Given the description of an element on the screen output the (x, y) to click on. 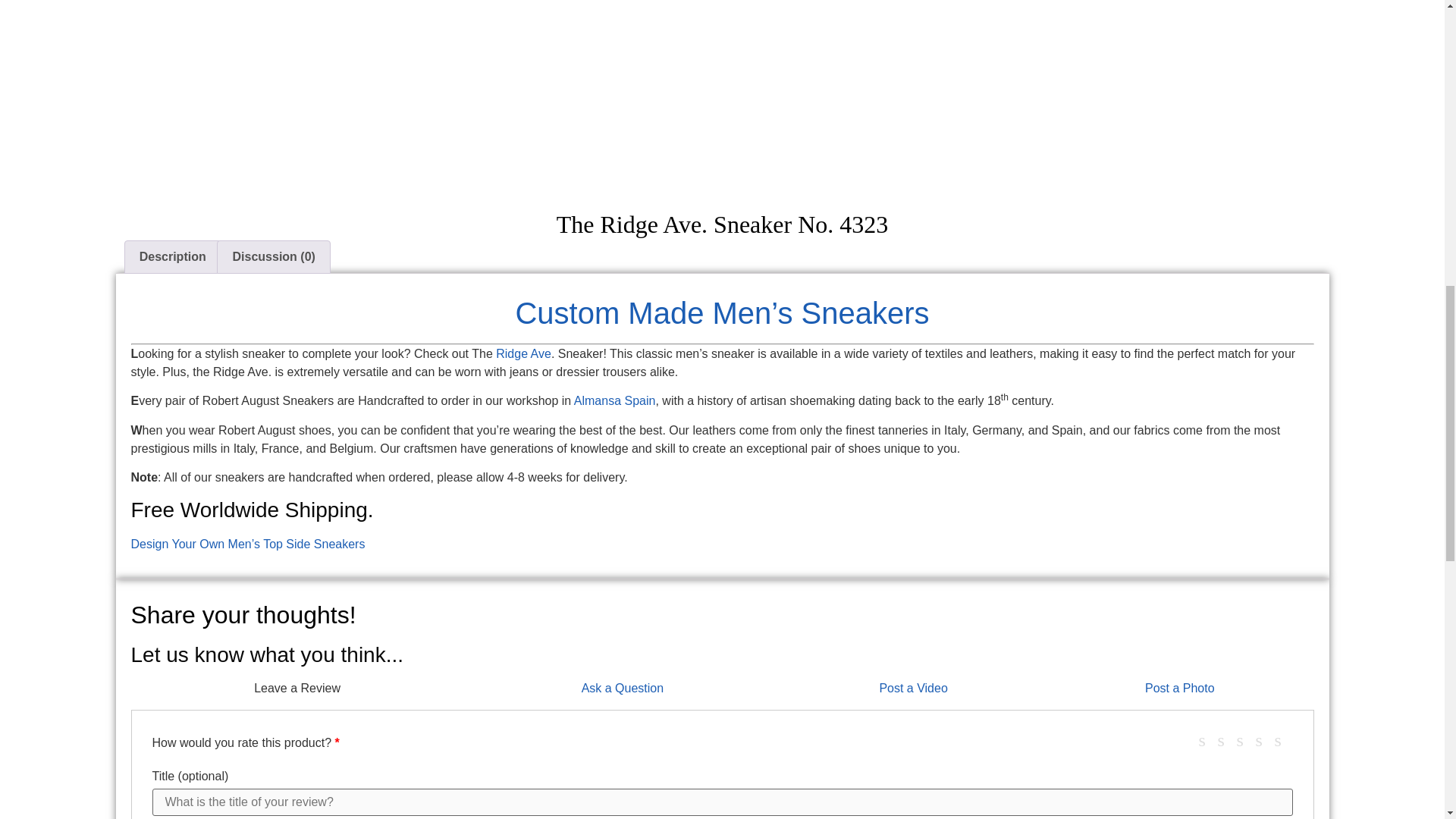
required (336, 742)
